Given the description of an element on the screen output the (x, y) to click on. 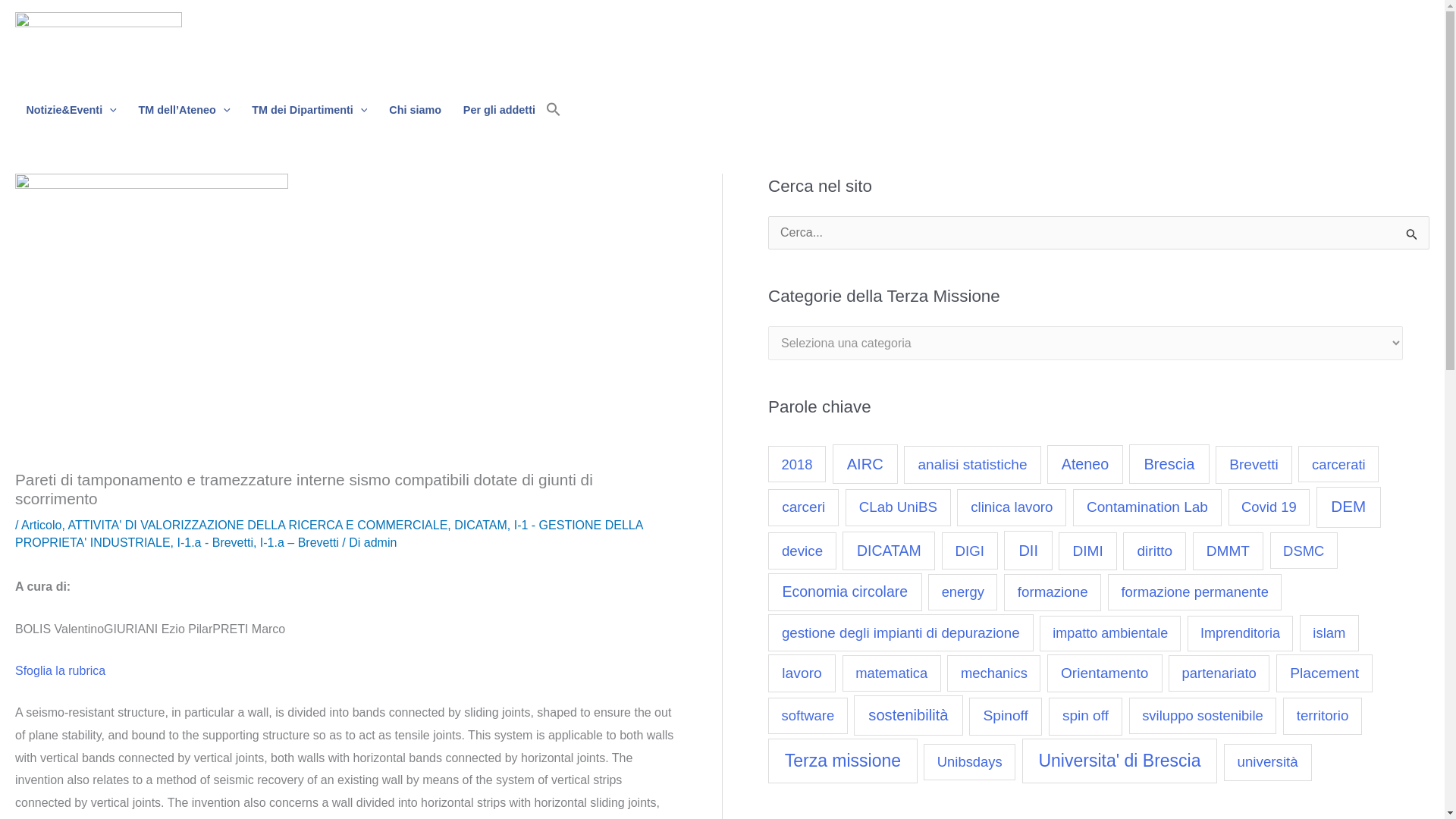
TM dei Dipartimenti (309, 110)
Per gli addetti (498, 110)
Visualizza tutti gli articoli di admin (380, 542)
Chi siamo (415, 110)
